Given the description of an element on the screen output the (x, y) to click on. 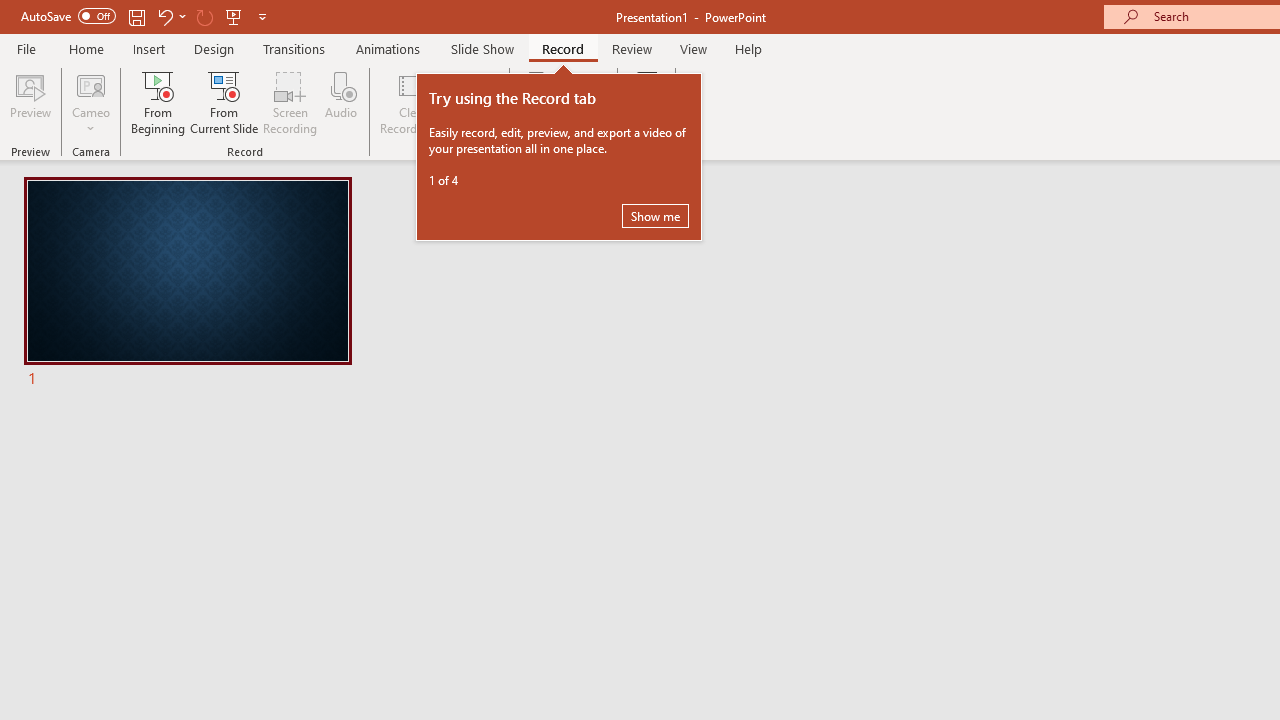
From Current Slide... (224, 102)
Show me (655, 215)
